Given the description of an element on the screen output the (x, y) to click on. 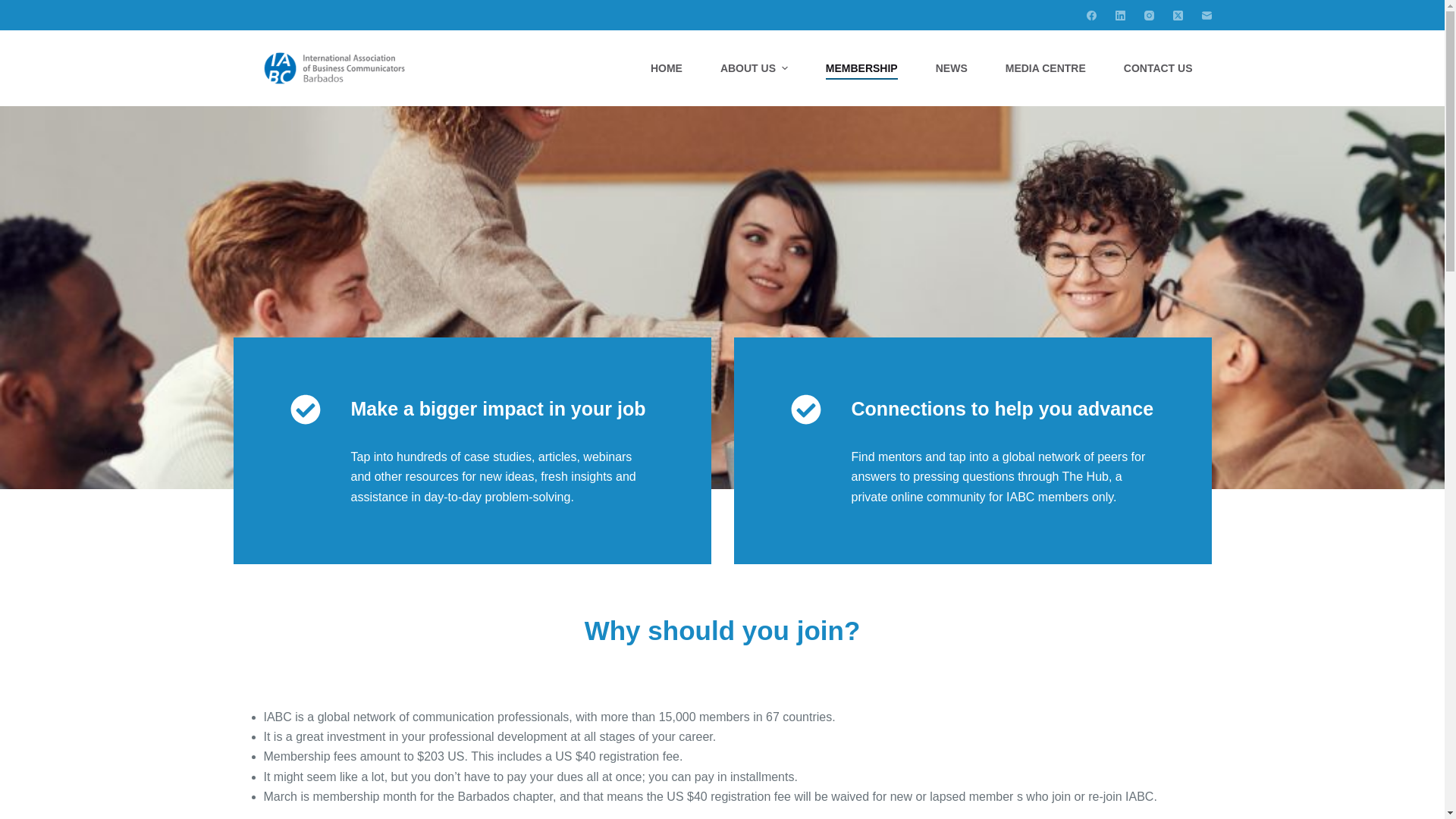
Skip to content (15, 7)
MEDIA CENTRE (1046, 67)
CONTACT US (1158, 67)
NEWS (952, 67)
ABOUT US (753, 67)
HOME (666, 67)
MEMBERSHIP (861, 67)
